Given the description of an element on the screen output the (x, y) to click on. 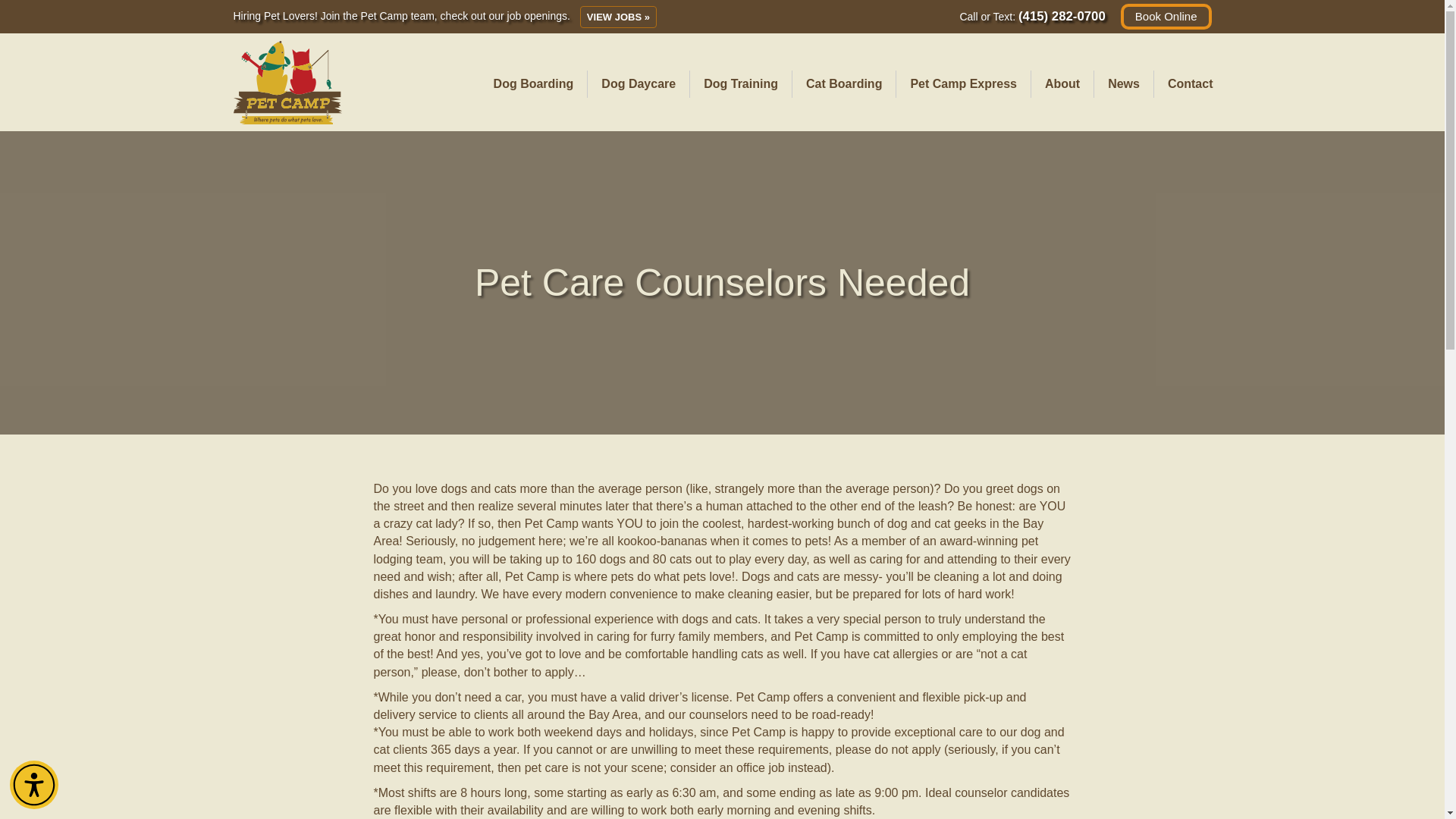
Dog Boarding (534, 83)
News (1123, 83)
Dog Daycare (638, 83)
Dog Training (741, 83)
Pet-Camp-Logo (287, 82)
Pet Camp Express (963, 83)
Book Online (1166, 16)
About (1061, 83)
Accessibility Menu (34, 784)
Cat Boarding (843, 83)
